Given the description of an element on the screen output the (x, y) to click on. 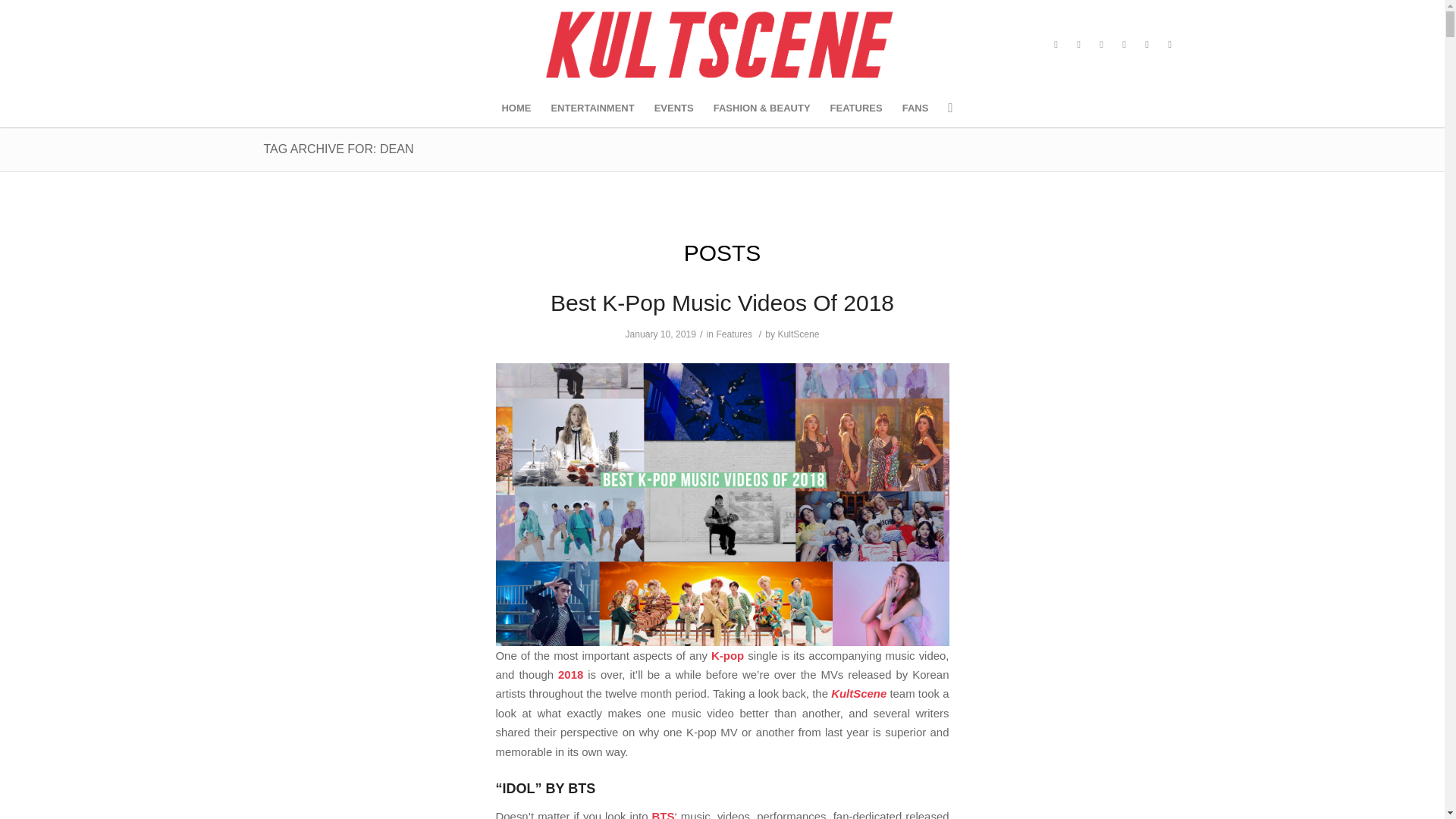
ENTERTAINMENT (591, 108)
Facebook (1056, 44)
Posts by KultScene (797, 334)
Mail (1146, 44)
FEATURES (856, 108)
EVENTS (674, 108)
Twitter (1078, 44)
Rss (1169, 44)
FANS (915, 108)
HOME (516, 108)
Tumblr (1101, 44)
Youtube (1124, 44)
Permanent Link: Best K-Pop Music Videos of 2018 (721, 302)
Permanent Link: Tag Archive for: dean (338, 148)
